Given the description of an element on the screen output the (x, y) to click on. 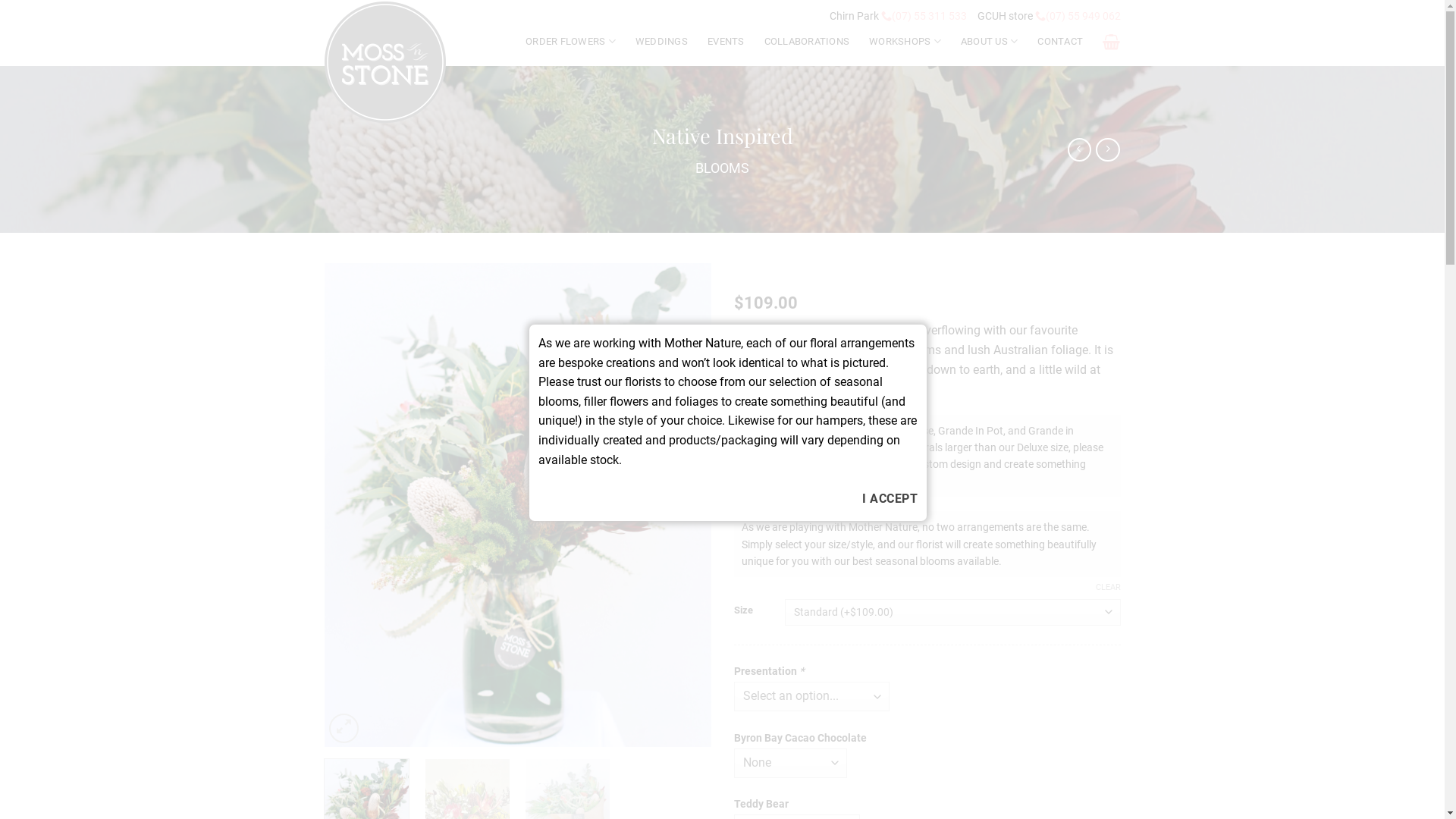
CLEAR Element type: text (1107, 587)
BLOOMS Element type: text (722, 167)
Zoom Element type: hover (343, 728)
EVENTS Element type: text (725, 41)
Cart Element type: hover (1111, 41)
CONTACT Element type: text (1059, 41)
I ACCEPT Element type: text (889, 499)
ABOUT US Element type: text (989, 41)
ORDER FLOWERS Element type: text (570, 41)
WORKSHOPS Element type: text (905, 41)
MossStone-10 Element type: hover (517, 504)
(07) 55 949 062 Element type: text (1077, 15)
(07) 55 311 533 Element type: text (923, 15)
COLLABORATIONS Element type: text (807, 41)
WEDDINGS Element type: text (661, 41)
